Given the description of an element on the screen output the (x, y) to click on. 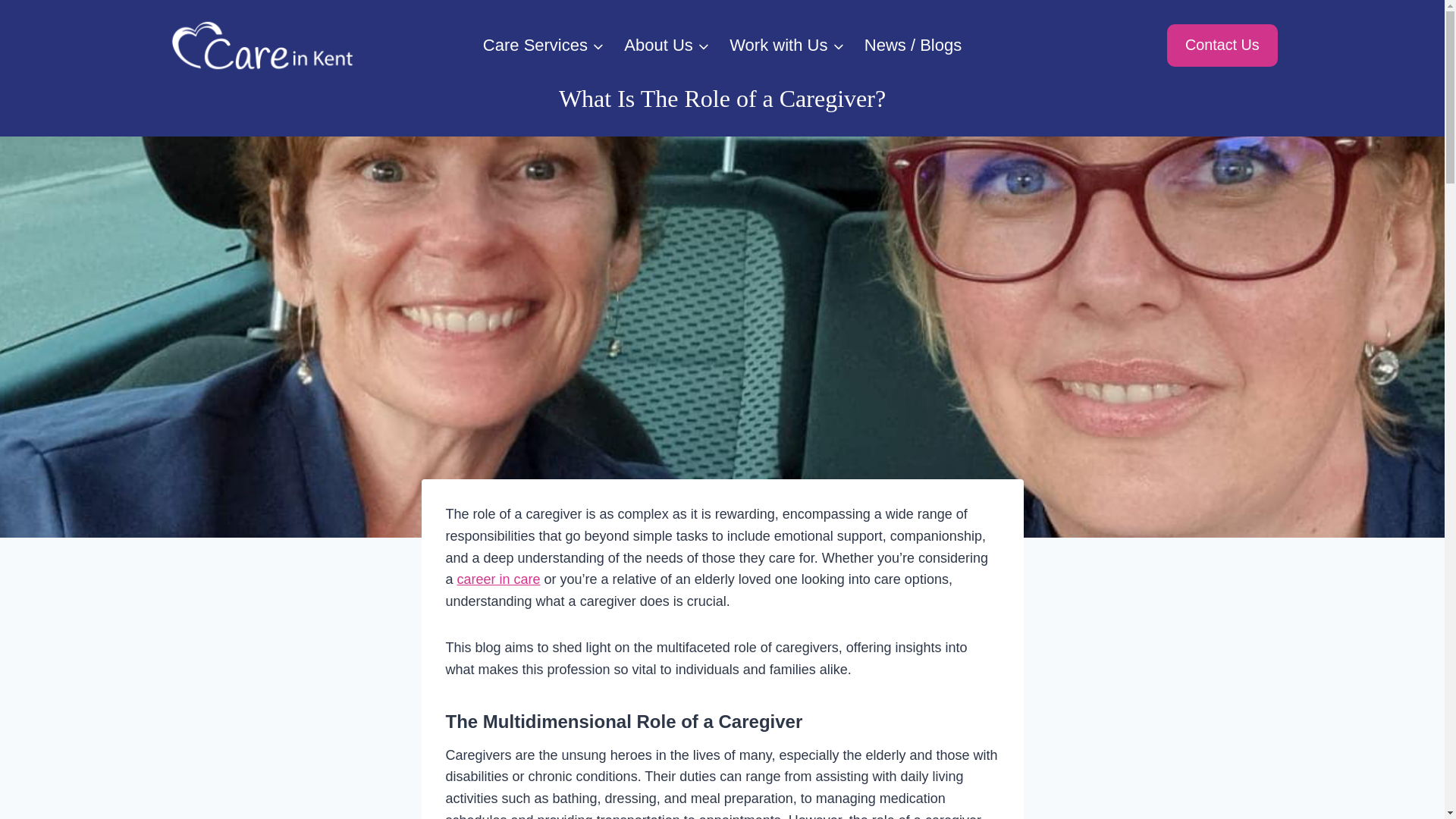
career in care (498, 579)
Contact Us (1221, 45)
About Us (666, 45)
Work with Us (786, 45)
Care Services (543, 45)
